Given the description of an element on the screen output the (x, y) to click on. 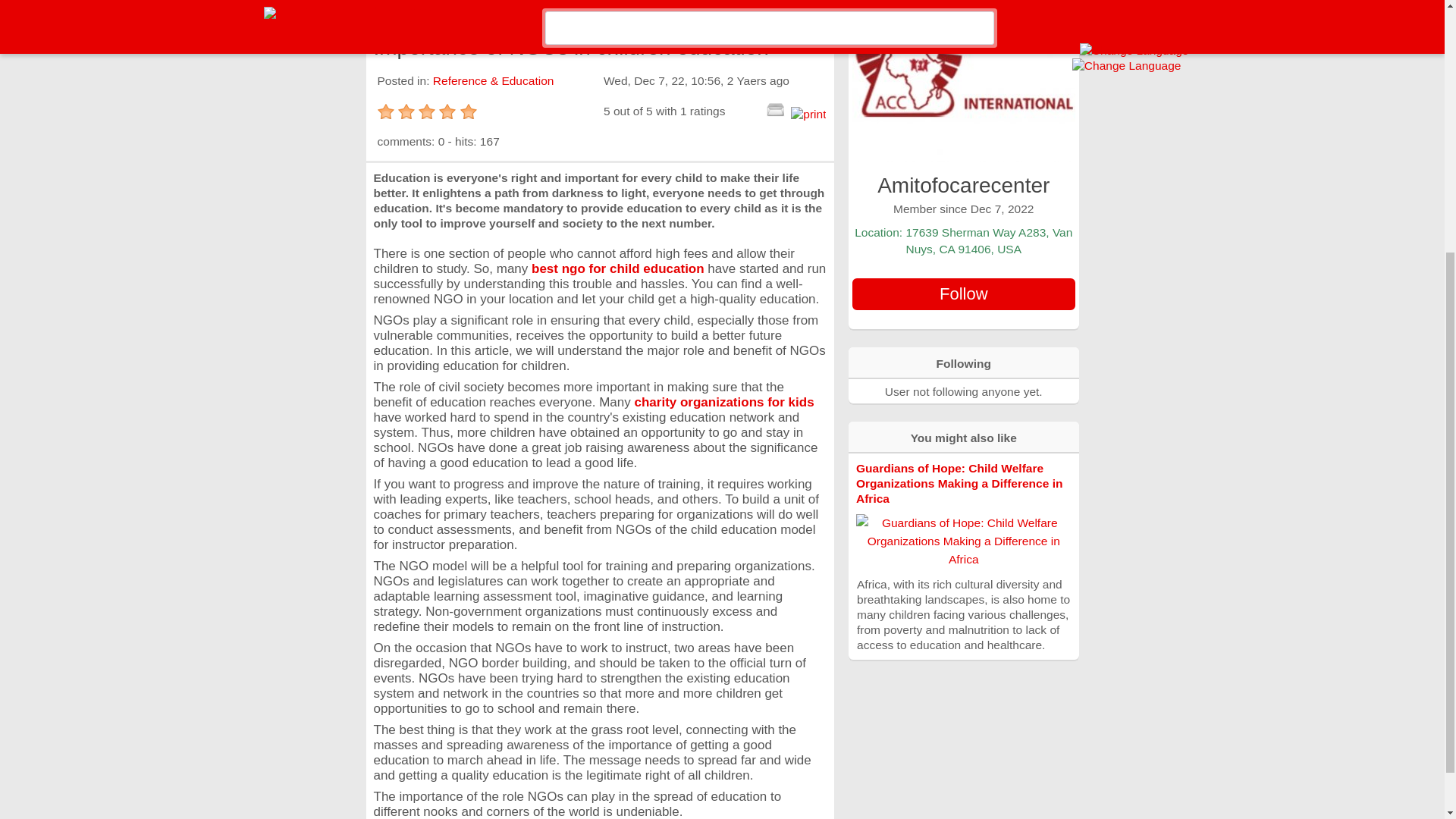
charity organizations for kids (723, 401)
Importance of NGOs in children education (598, 12)
best ngo for child education (617, 268)
Follow (963, 294)
Print This Page (807, 114)
Recommend this Article (775, 108)
